Given the description of an element on the screen output the (x, y) to click on. 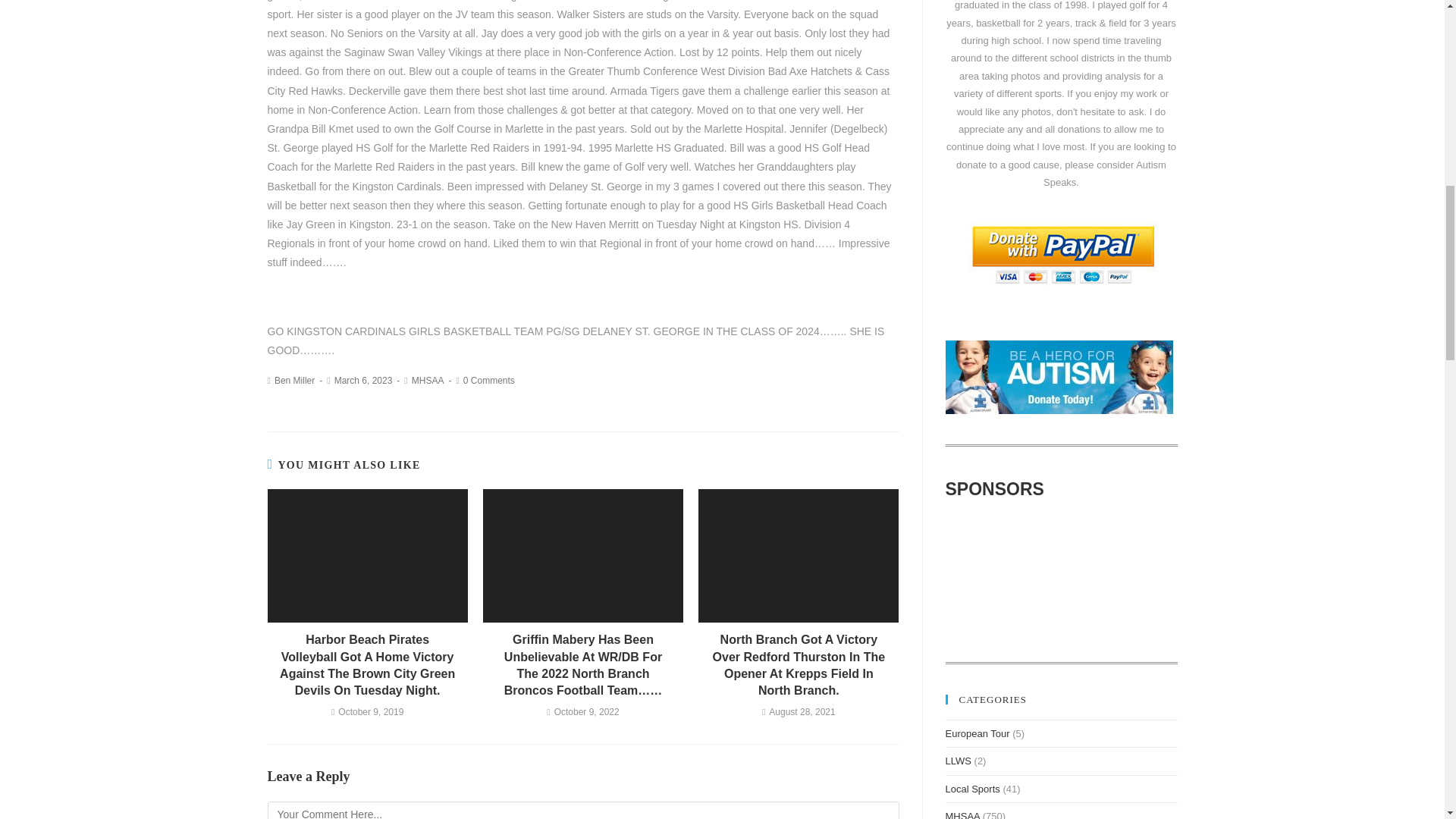
Ben Miller (294, 380)
LLWS (957, 760)
MHSAA (428, 380)
0 Comments (489, 380)
PayPal - The safer, easier way to pay online! (1061, 254)
Michigan High School Athletic Association (961, 814)
Posts by Ben Miller (294, 380)
Local Sports (971, 788)
MHSAA (961, 814)
European Tour (976, 733)
